Given the description of an element on the screen output the (x, y) to click on. 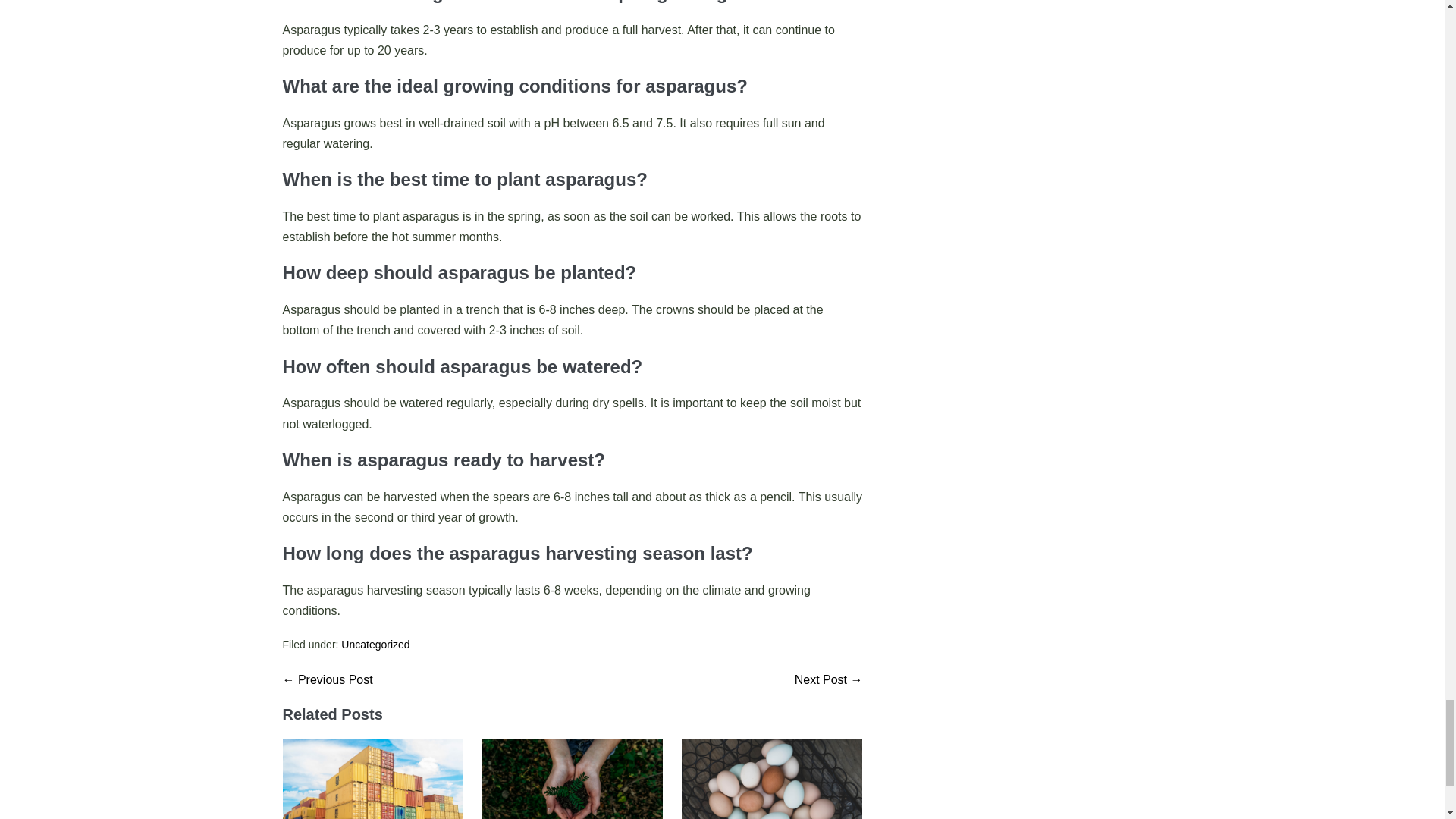
Uncategorized (374, 644)
